Given the description of an element on the screen output the (x, y) to click on. 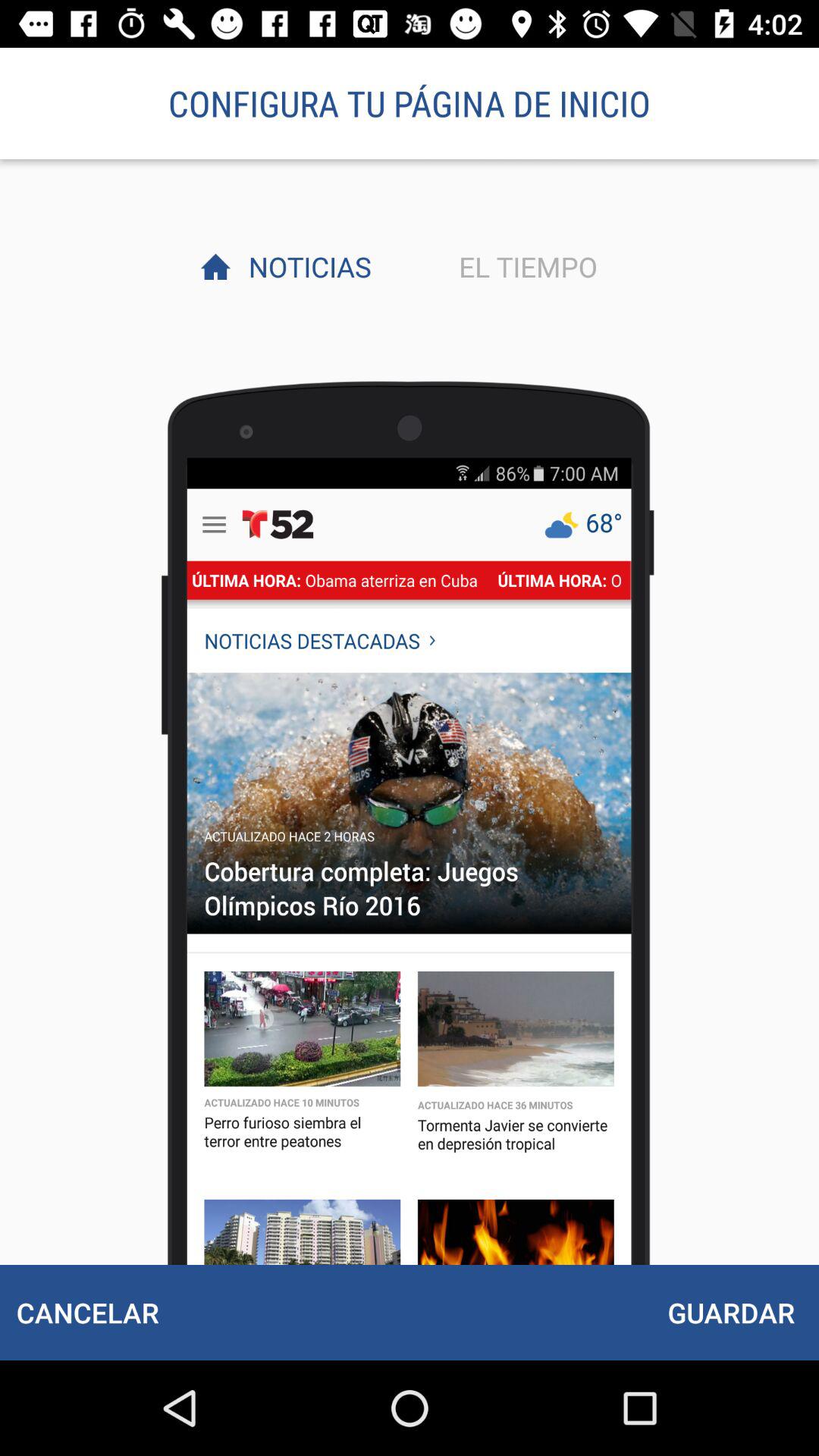
select the item next to el tiempo item (305, 266)
